Given the description of an element on the screen output the (x, y) to click on. 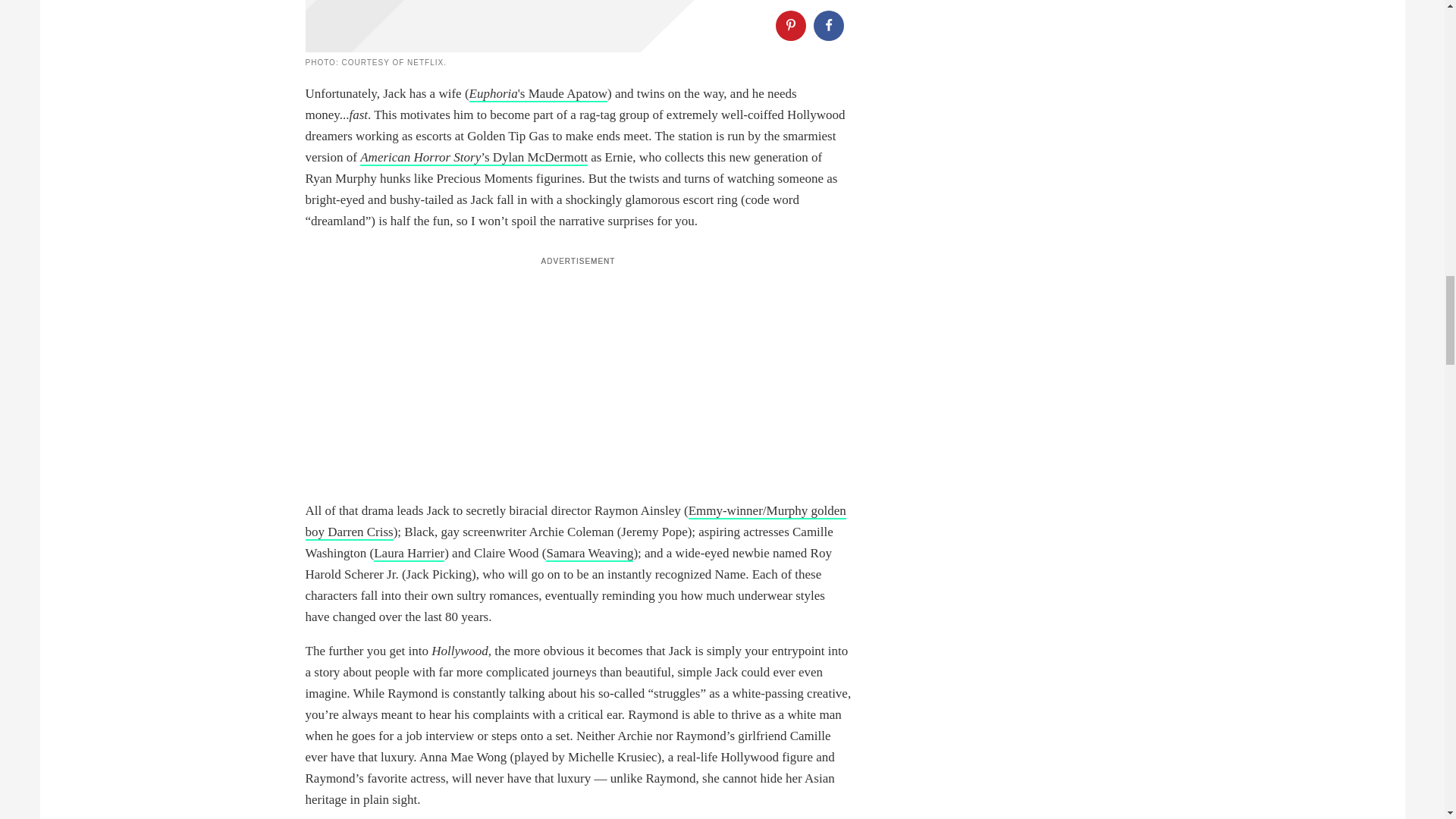
Laura Harrier (409, 553)
Euphoria (493, 94)
American Horror Story (419, 157)
's Maude Apatow (562, 94)
Share on Pinterest (789, 25)
